Given the description of an element on the screen output the (x, y) to click on. 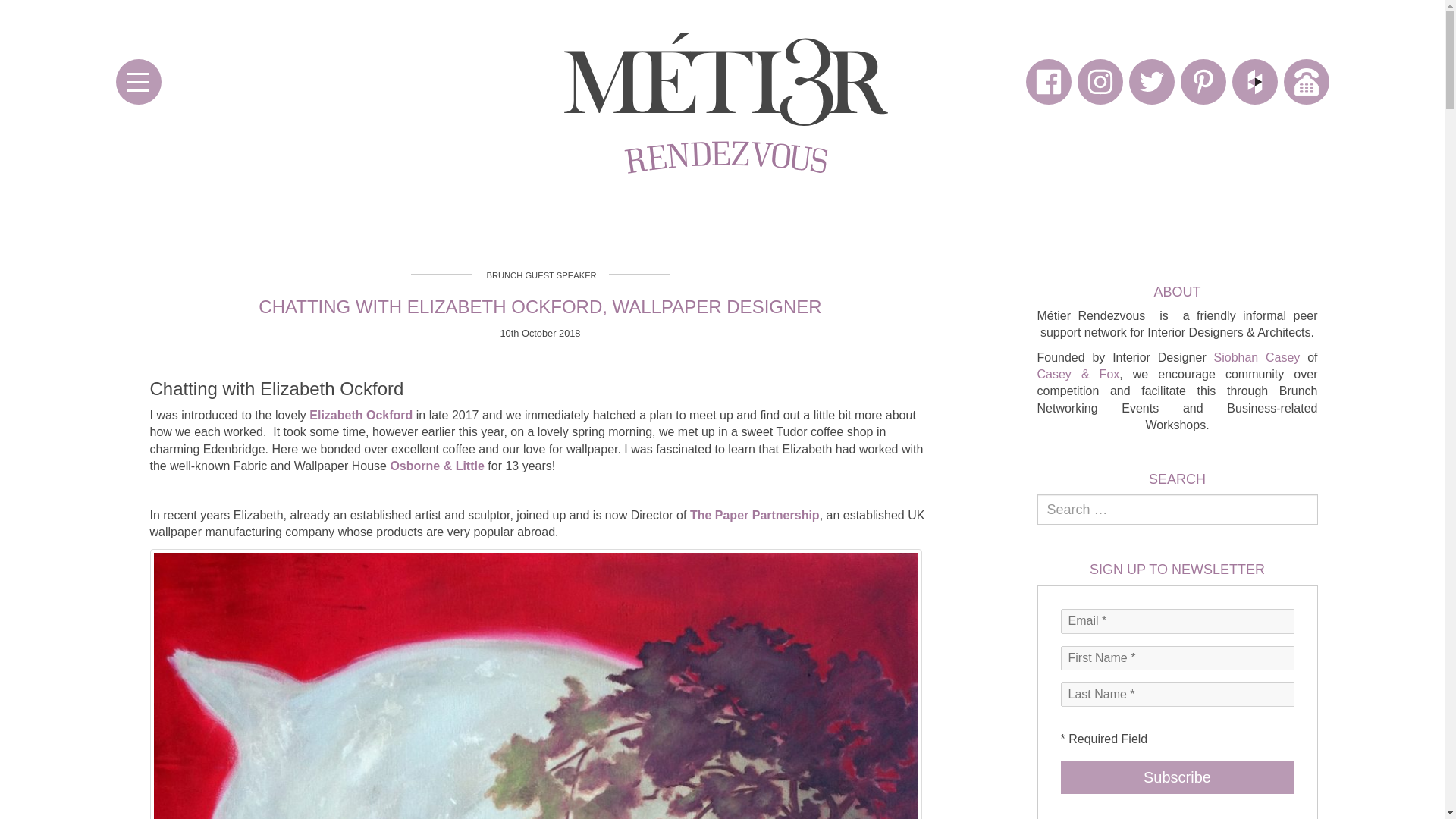
Visit our Facebook page (1047, 81)
Visit our Pinterest profile (1202, 81)
Metier Logo (721, 102)
Visit our Instagram profile (1099, 81)
The Paper Partnership (754, 514)
Search (1045, 529)
Subscribe (1176, 776)
Visit our Houzz profile (1253, 81)
Visit our Twitter profile (1150, 81)
Search (1045, 529)
